Given the description of an element on the screen output the (x, y) to click on. 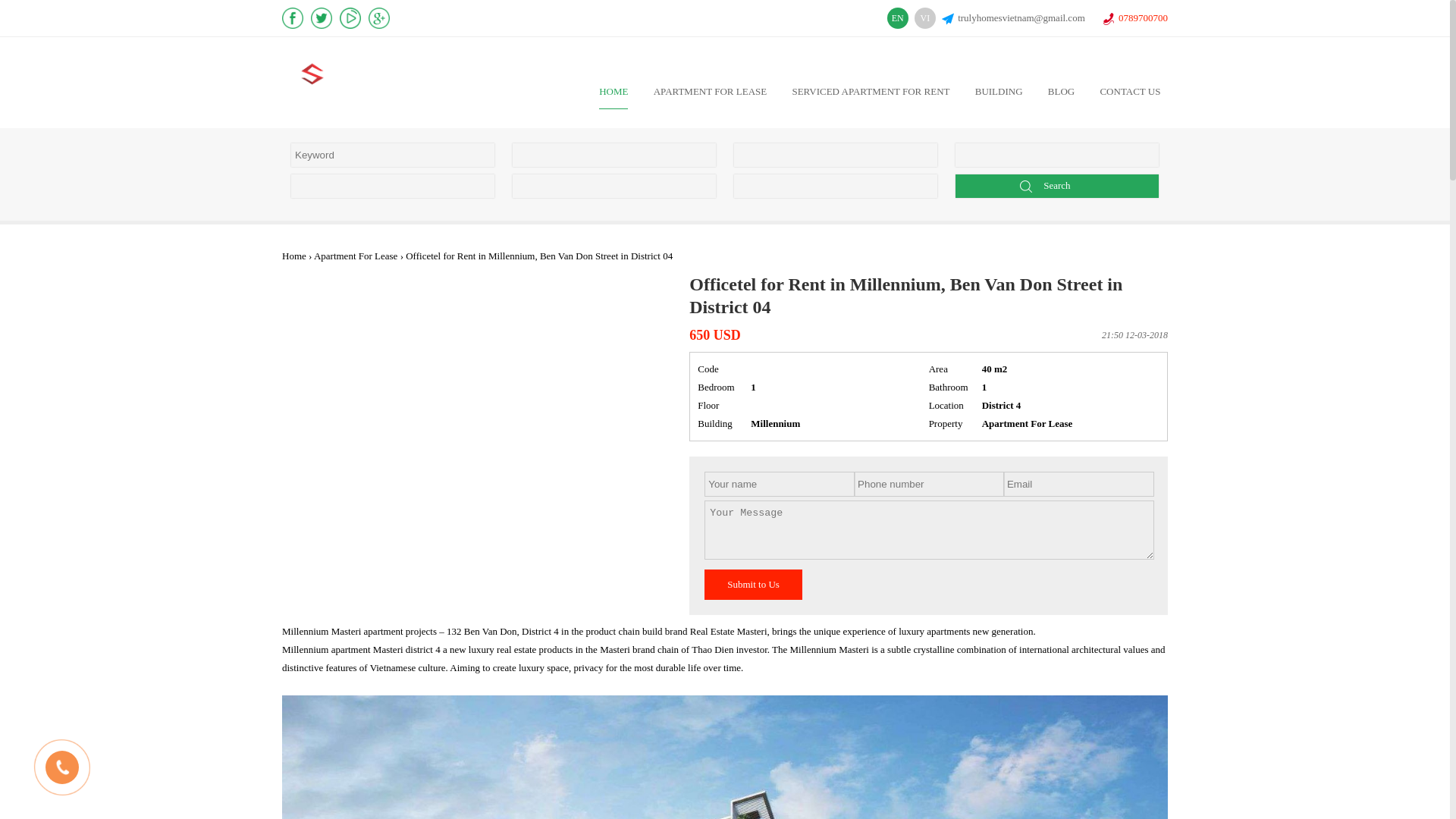
BUILDING (999, 91)
Building (999, 91)
0789700700 (1134, 17)
SERVICED APARTMENT FOR RENT (870, 91)
Contact Us (1129, 91)
Home (293, 255)
CONTACT US (1129, 91)
Apartment For Lease (710, 91)
Apartment For Lease (355, 255)
Twitter Account (325, 16)
